Given the description of an element on the screen output the (x, y) to click on. 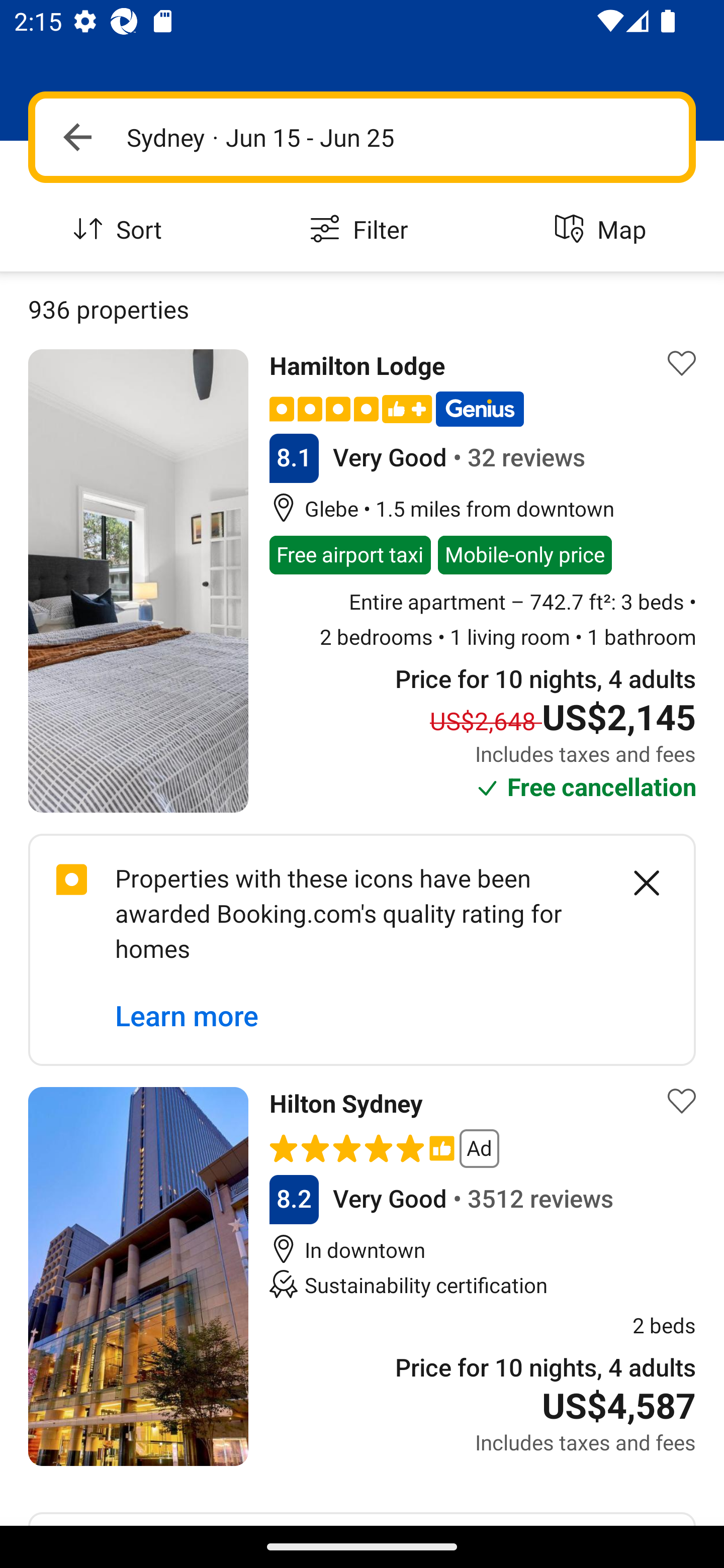
Navigate up Sydney · Jun 15 - Jun 25 (362, 136)
Navigate up (77, 136)
Sort (120, 230)
Filter (361, 230)
Map (603, 230)
Save property to list (681, 363)
Clear (635, 882)
Learn more (187, 1015)
Save property to list (681, 1100)
